Given the description of an element on the screen output the (x, y) to click on. 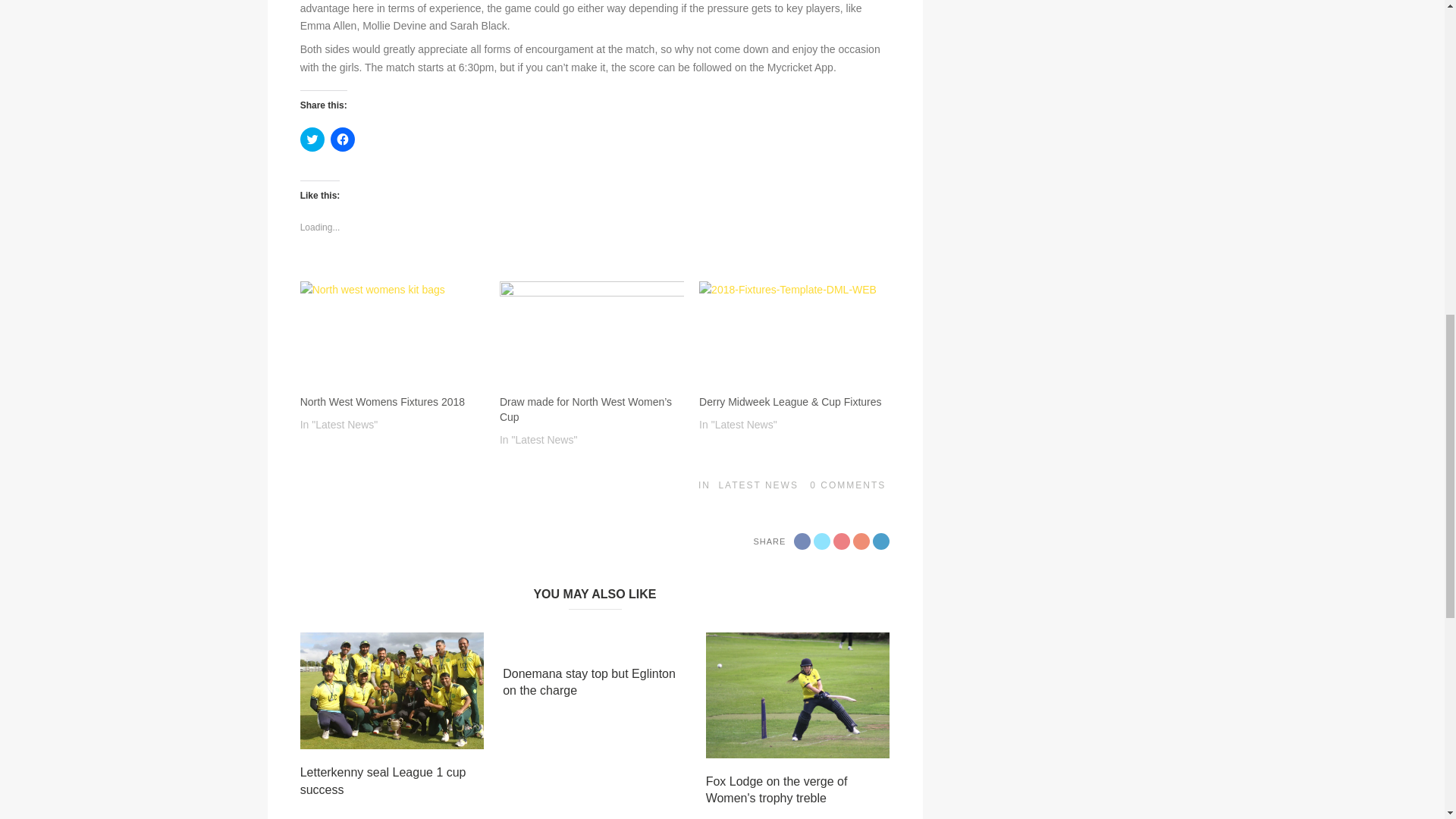
Click to share on Facebook (342, 139)
North West Womens Fixtures 2018 (391, 333)
Twitter (821, 541)
Click to share on Twitter (311, 139)
Facebook (801, 541)
North West Womens Fixtures 2018 (381, 401)
